Given the description of an element on the screen output the (x, y) to click on. 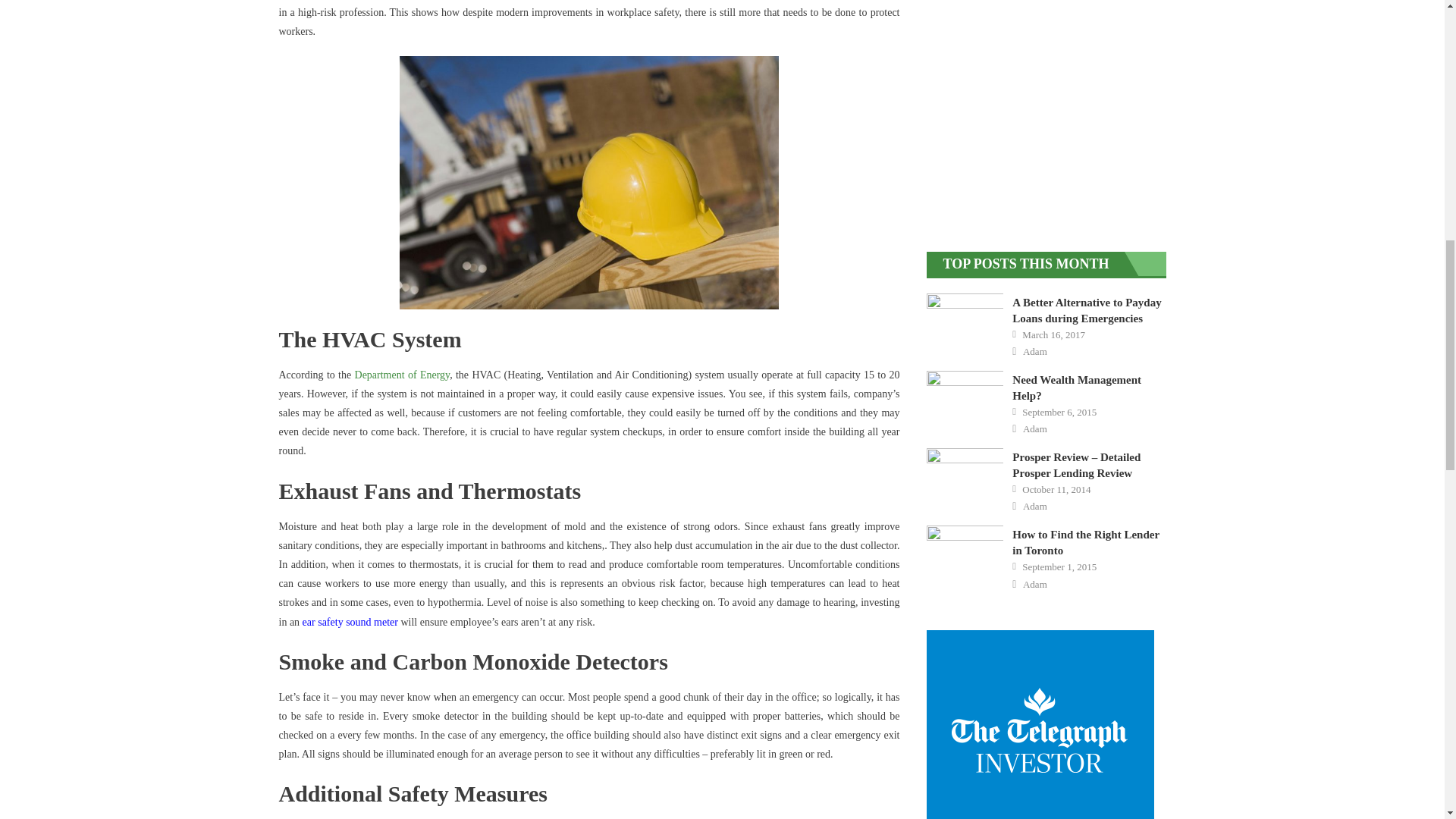
ear safety sound meter (349, 621)
Need Wealth Management Help? (964, 393)
How to Find the Right Lender in Toronto (964, 546)
A Better Alternative to Payday Loans during Emergencies (964, 316)
Department of Energy (402, 374)
